Given the description of an element on the screen output the (x, y) to click on. 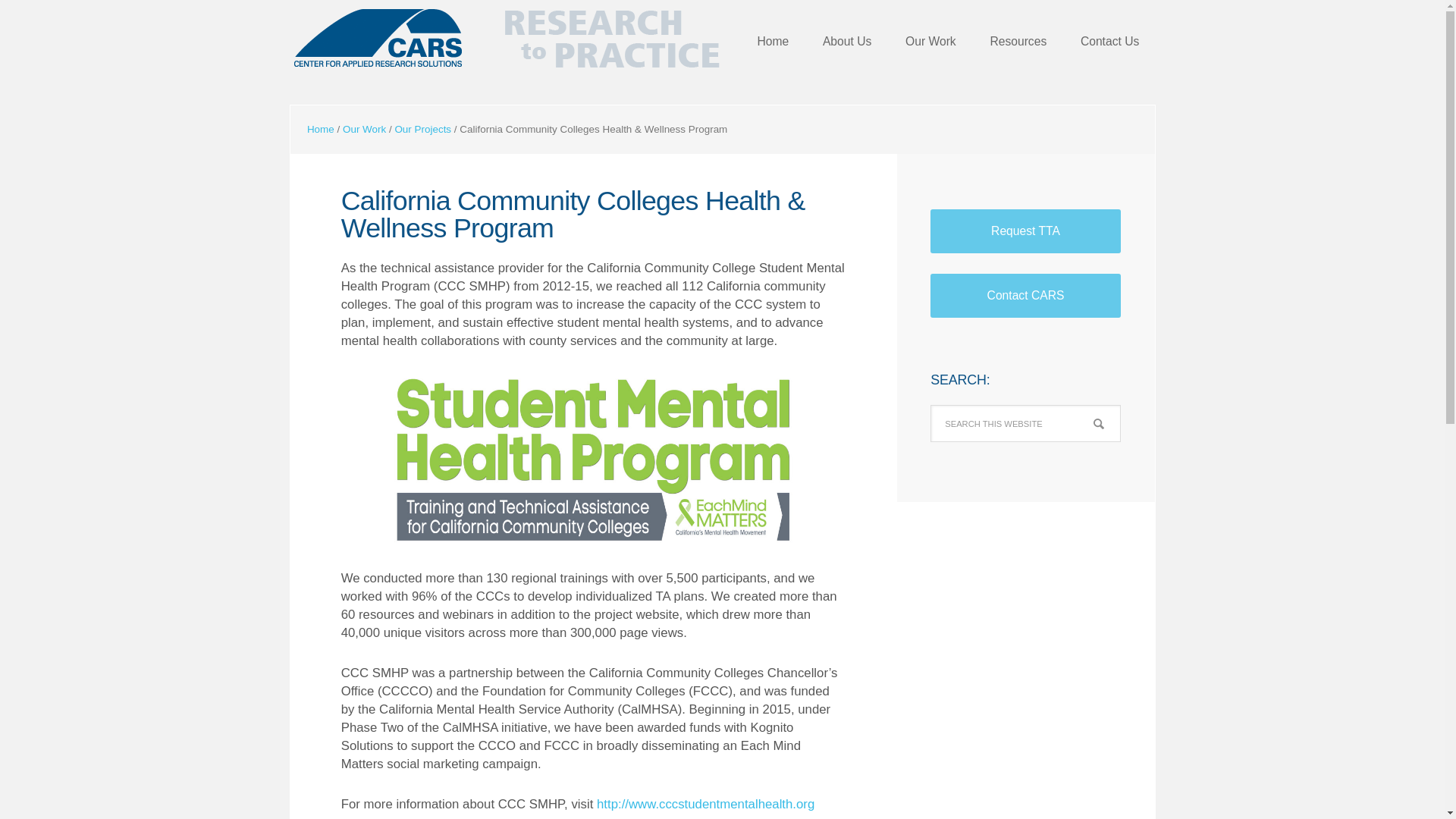
Request TTA (1024, 231)
Contact Us (1109, 42)
Home (320, 129)
Home (772, 42)
Our Projects (422, 129)
Resources (1017, 42)
Contact CARS (1024, 295)
About Us (847, 42)
Our Work (363, 129)
Our Work (930, 42)
